Given the description of an element on the screen output the (x, y) to click on. 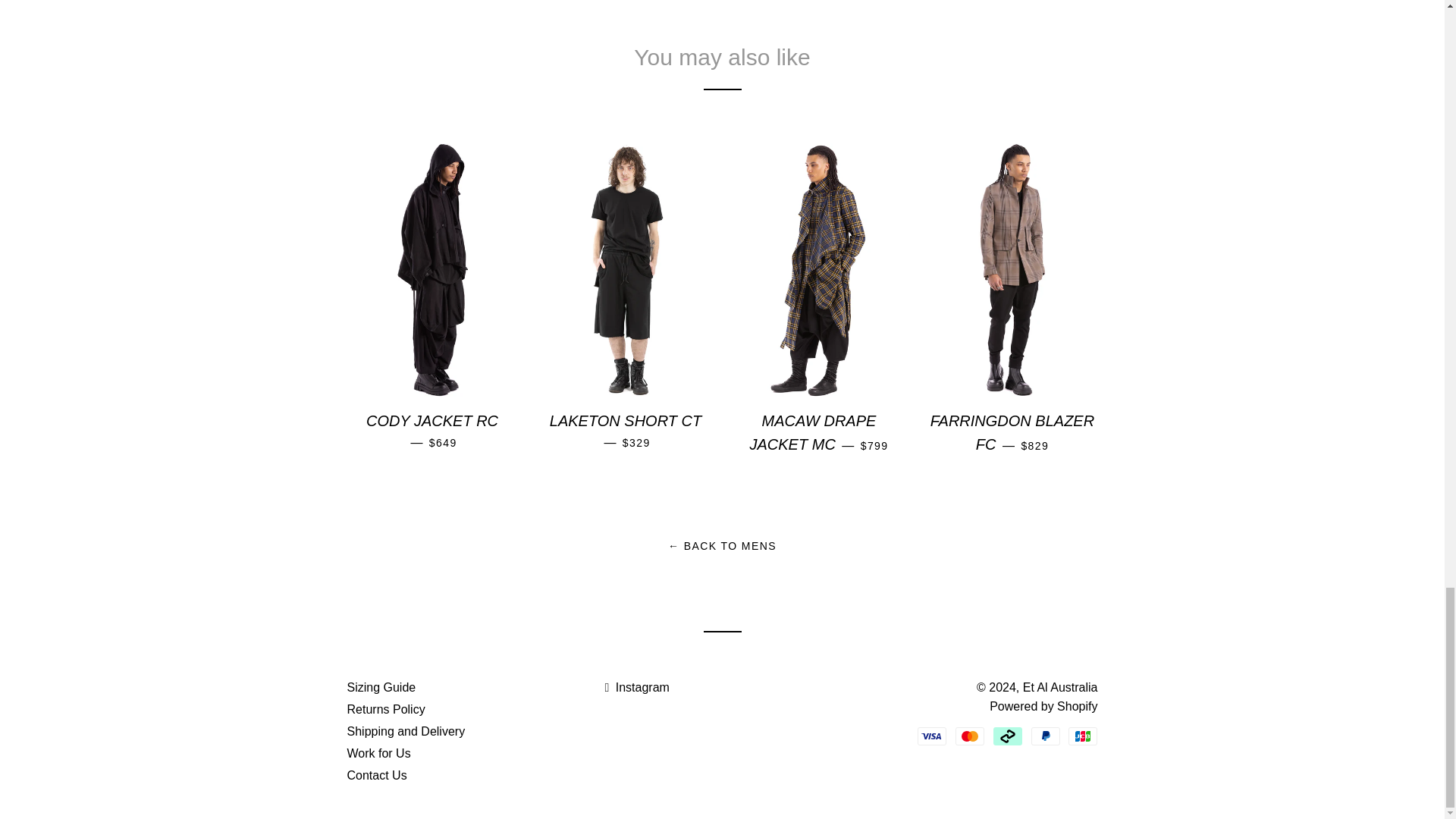
Mastercard (969, 736)
Afterpay (1007, 736)
Visa (931, 736)
PayPal (1044, 736)
Et Al Australia on Instagram (636, 686)
JCB (1082, 736)
